Given the description of an element on the screen output the (x, y) to click on. 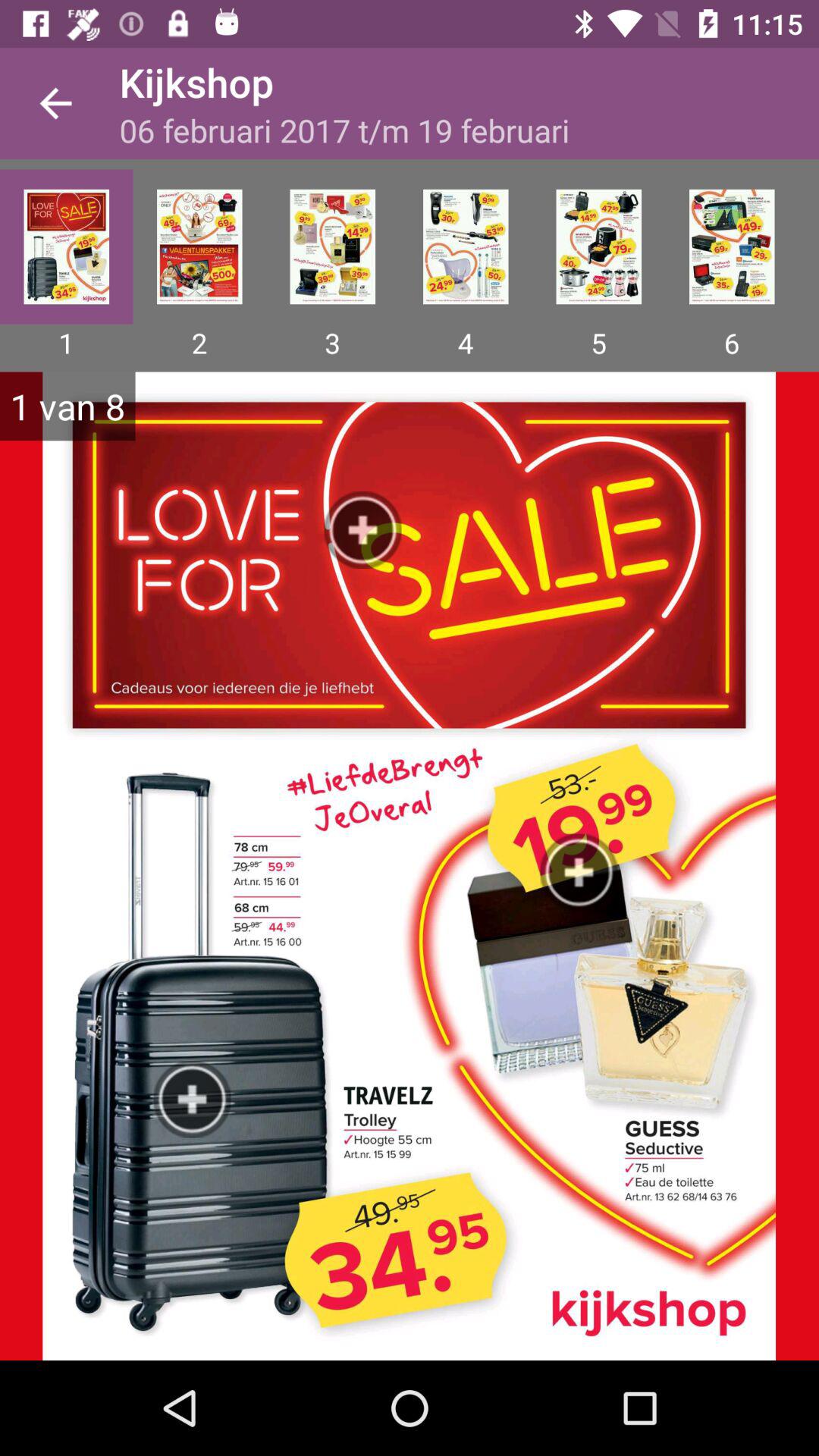
turn off the app below 06 februari 2017 item (199, 246)
